Given the description of an element on the screen output the (x, y) to click on. 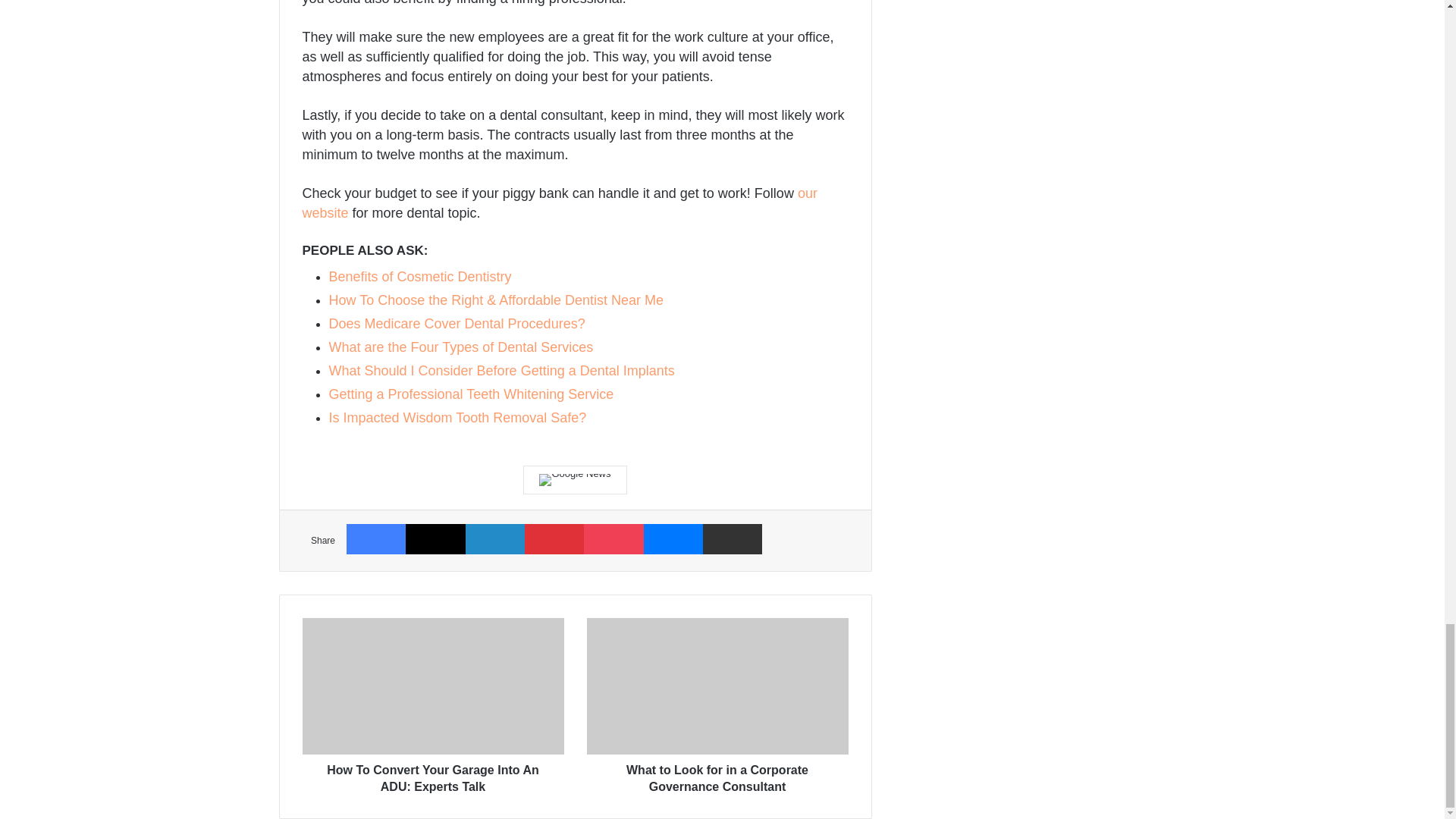
Facebook (376, 538)
Pinterest (553, 538)
Google News (574, 480)
LinkedIn (494, 538)
X (435, 538)
